Given the description of an element on the screen output the (x, y) to click on. 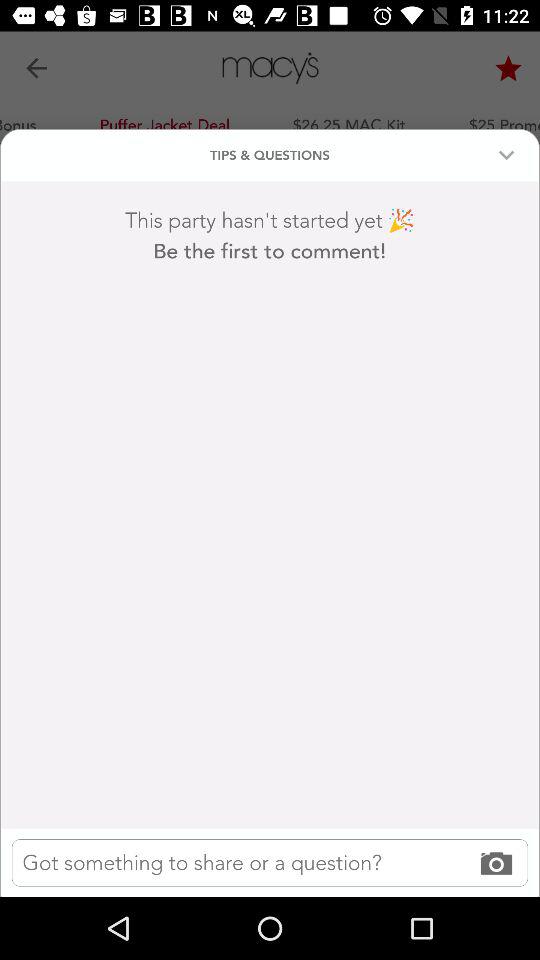
enter text (270, 862)
